Given the description of an element on the screen output the (x, y) to click on. 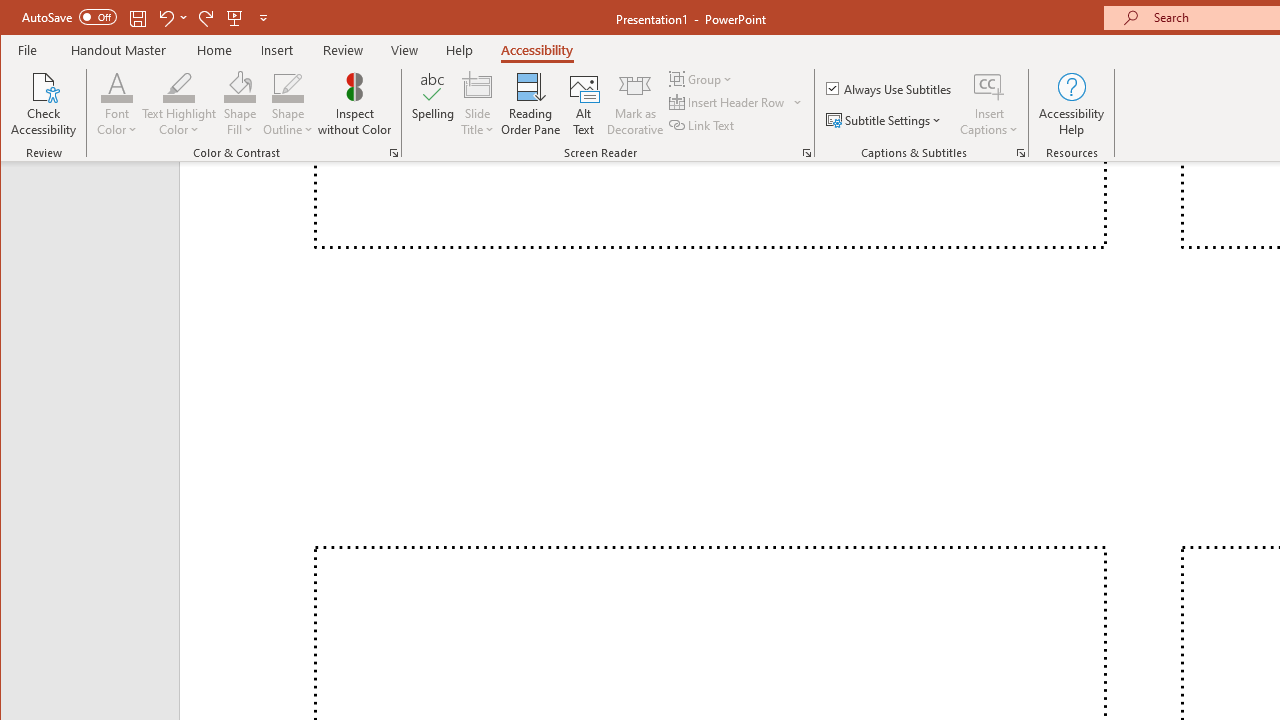
Spelling... (432, 104)
Font Color (116, 104)
Insert Captions (989, 104)
Shape Fill (239, 104)
Shape Outline (288, 104)
Shape Fill Orange, Accent 2 (239, 86)
Insert Header Row (735, 101)
Handout Master (118, 50)
Insert Header Row (728, 101)
Group (701, 78)
Text Highlight Color (178, 104)
